Given the description of an element on the screen output the (x, y) to click on. 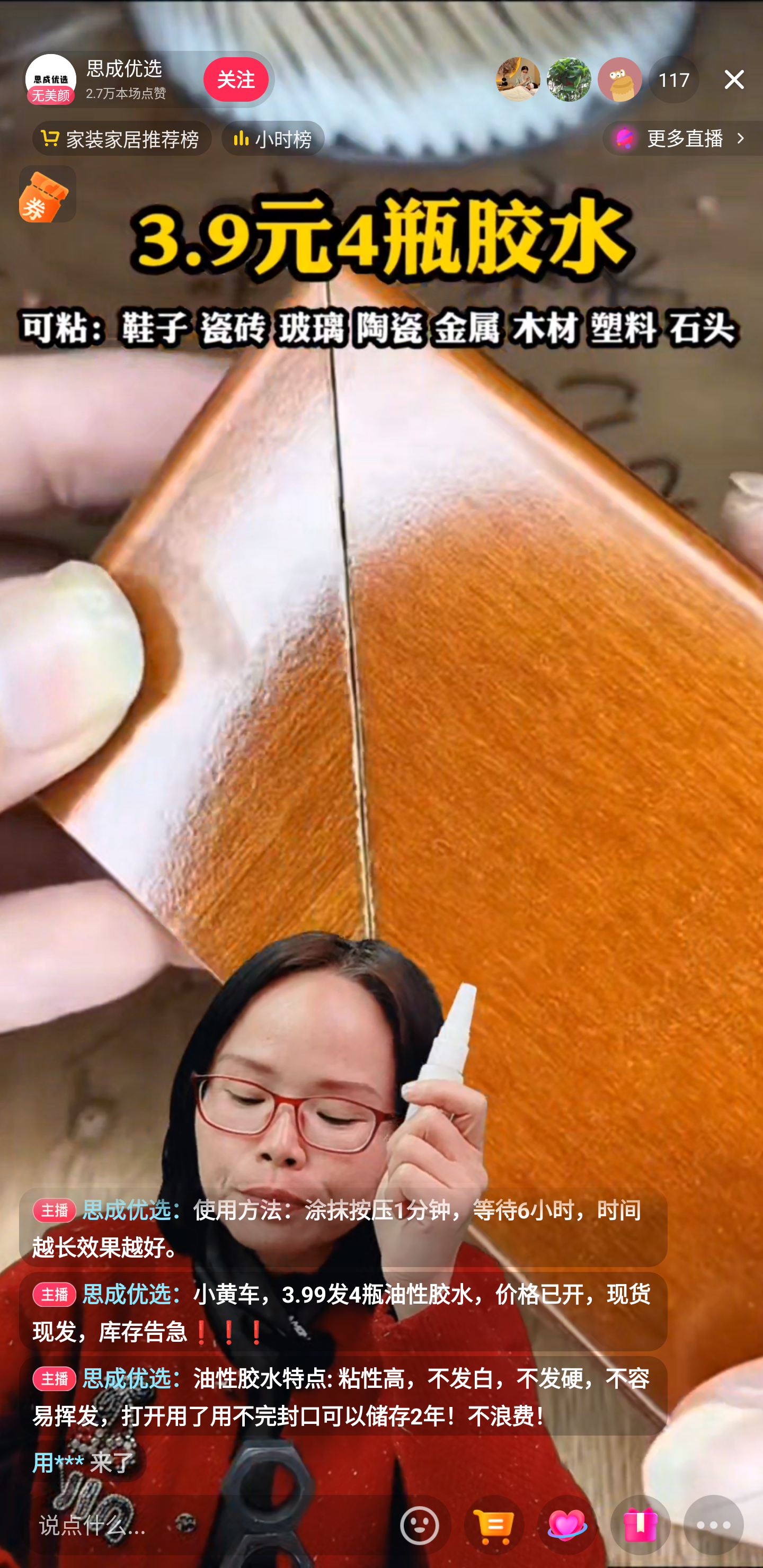
主播思成优选 2.7万本场点赞  无美颜 思成优选 2.7万本场点赞 关注 (148, 79)
117 117在线观众 (673, 78)
关注 (235, 78)
关闭 (733, 78)
家装家居推荐榜，按钮 (122, 137)
小时榜，按钮 (273, 137)
更多直播 (682, 137)
优惠券 按钮 (47, 193)
* 思成优选：使用方法：涂抹按压1分钟，等待6小时，时间越长效果越好。 (343, 1226)
* 思成优选：小黄车，3.99发4瓶油性胶水，价格已开，现货现发，库存告急❗️❗️❗️ (343, 1311)
用*** 来了 (82, 1460)
说点什么... 表情入口 (235, 1524)
表情入口 (419, 1524)
商品列表 (493, 1526)
小心心 (567, 1526)
礼物 (640, 1526)
更多面板 按钮 (713, 1526)
